Given the description of an element on the screen output the (x, y) to click on. 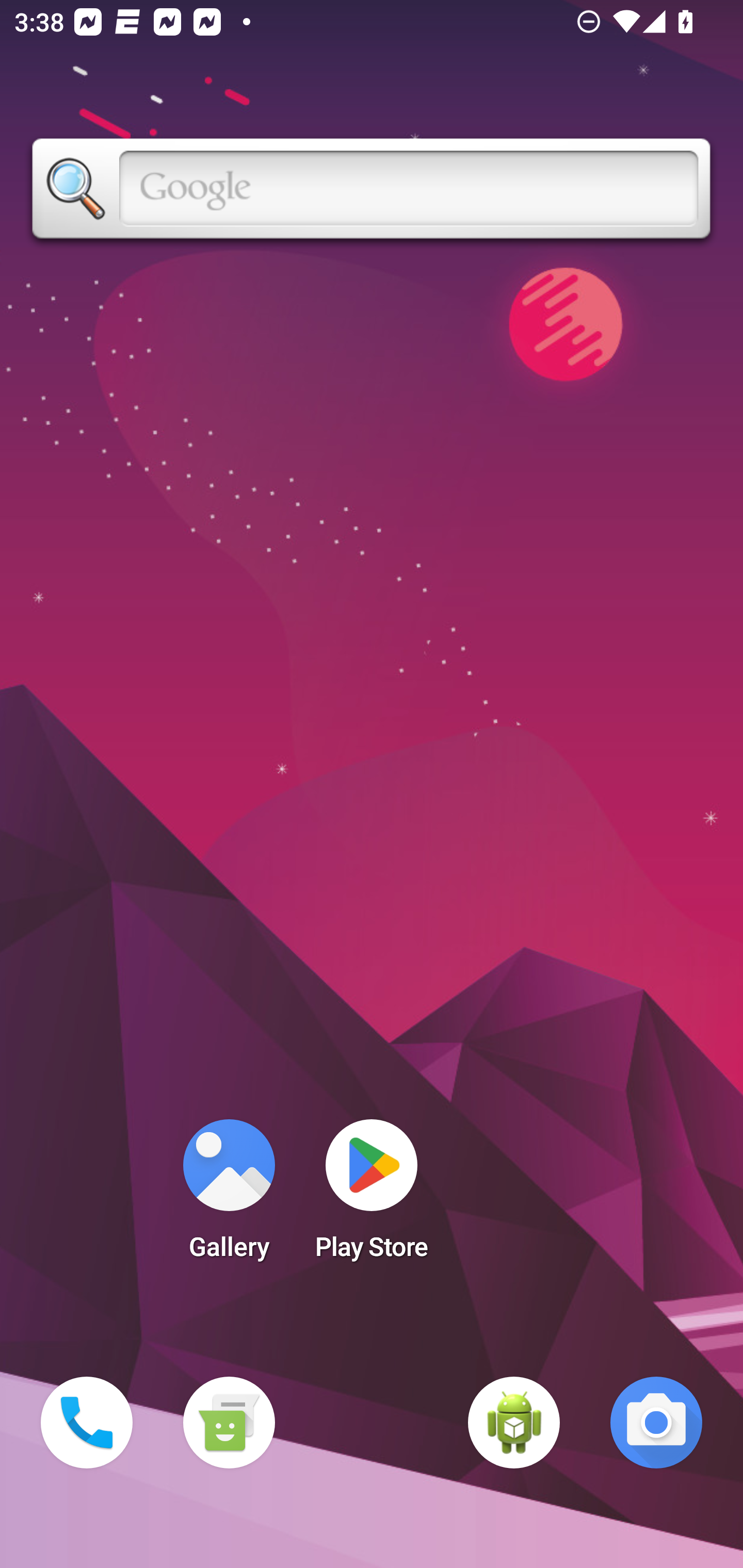
Gallery (228, 1195)
Play Store (371, 1195)
Phone (86, 1422)
Messaging (228, 1422)
WebView Browser Tester (513, 1422)
Camera (656, 1422)
